Given the description of an element on the screen output the (x, y) to click on. 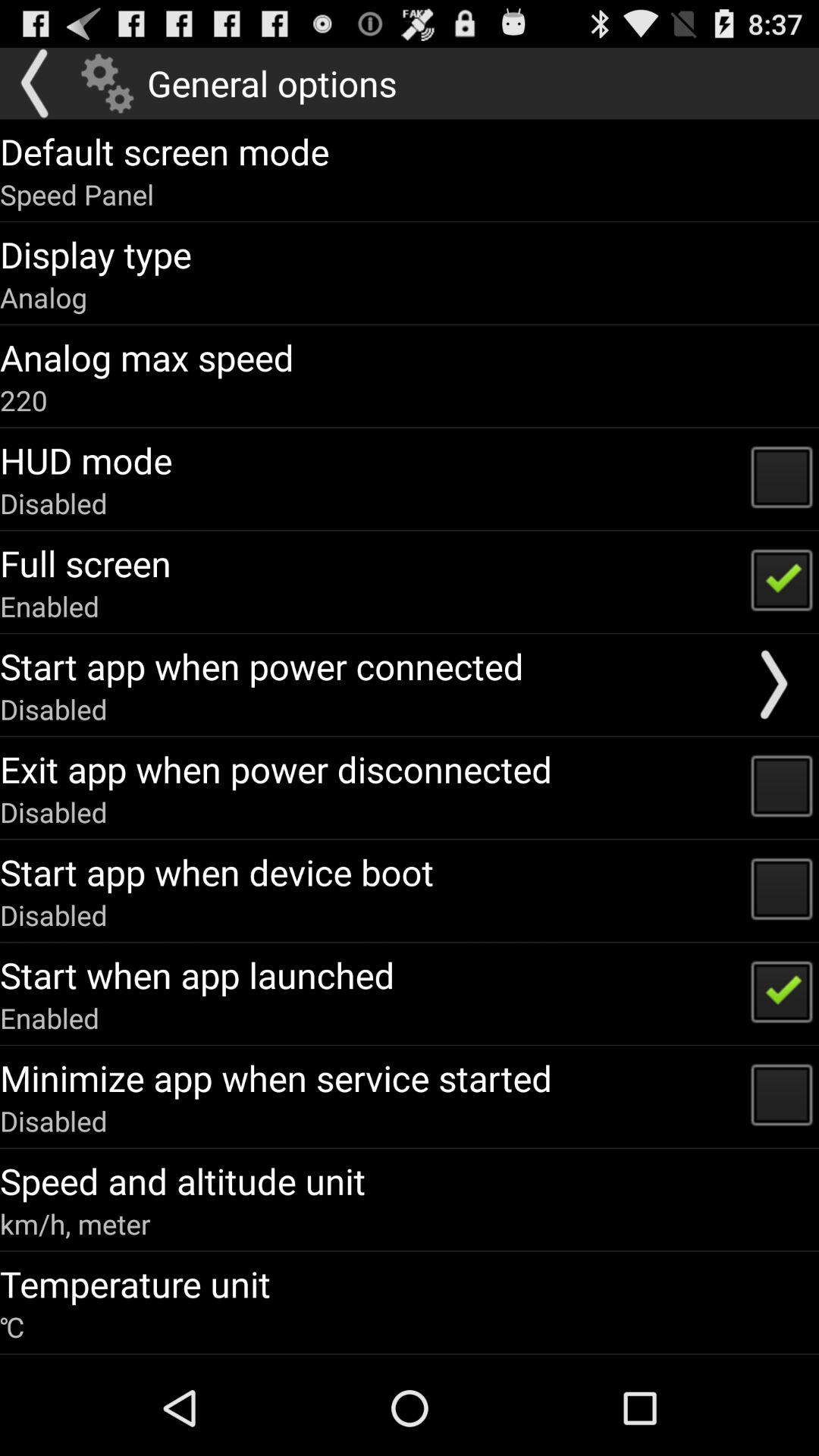
select icon above the hud mode (23, 400)
